Given the description of an element on the screen output the (x, y) to click on. 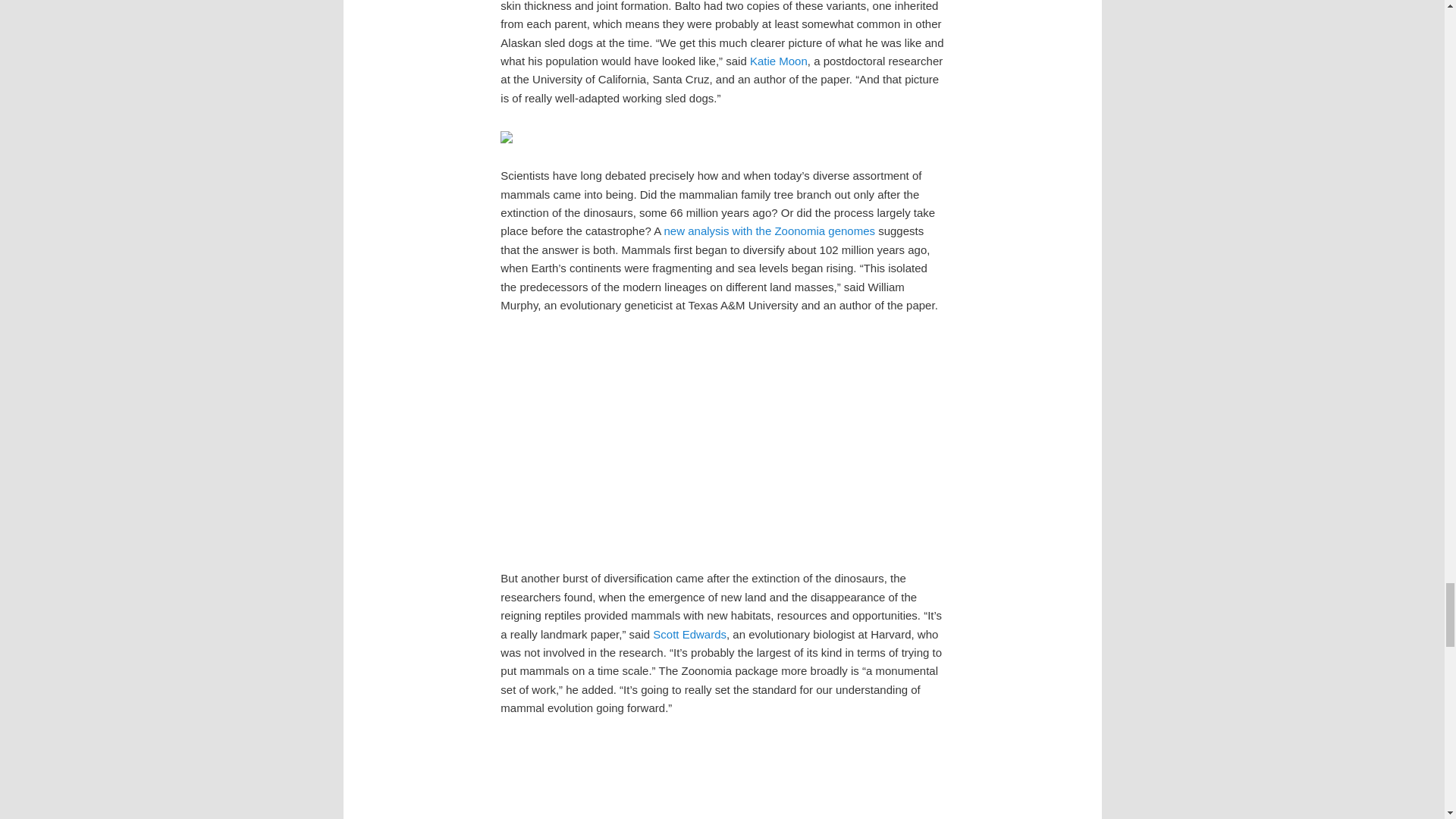
NPR embedded audio player (721, 439)
